Given the description of an element on the screen output the (x, y) to click on. 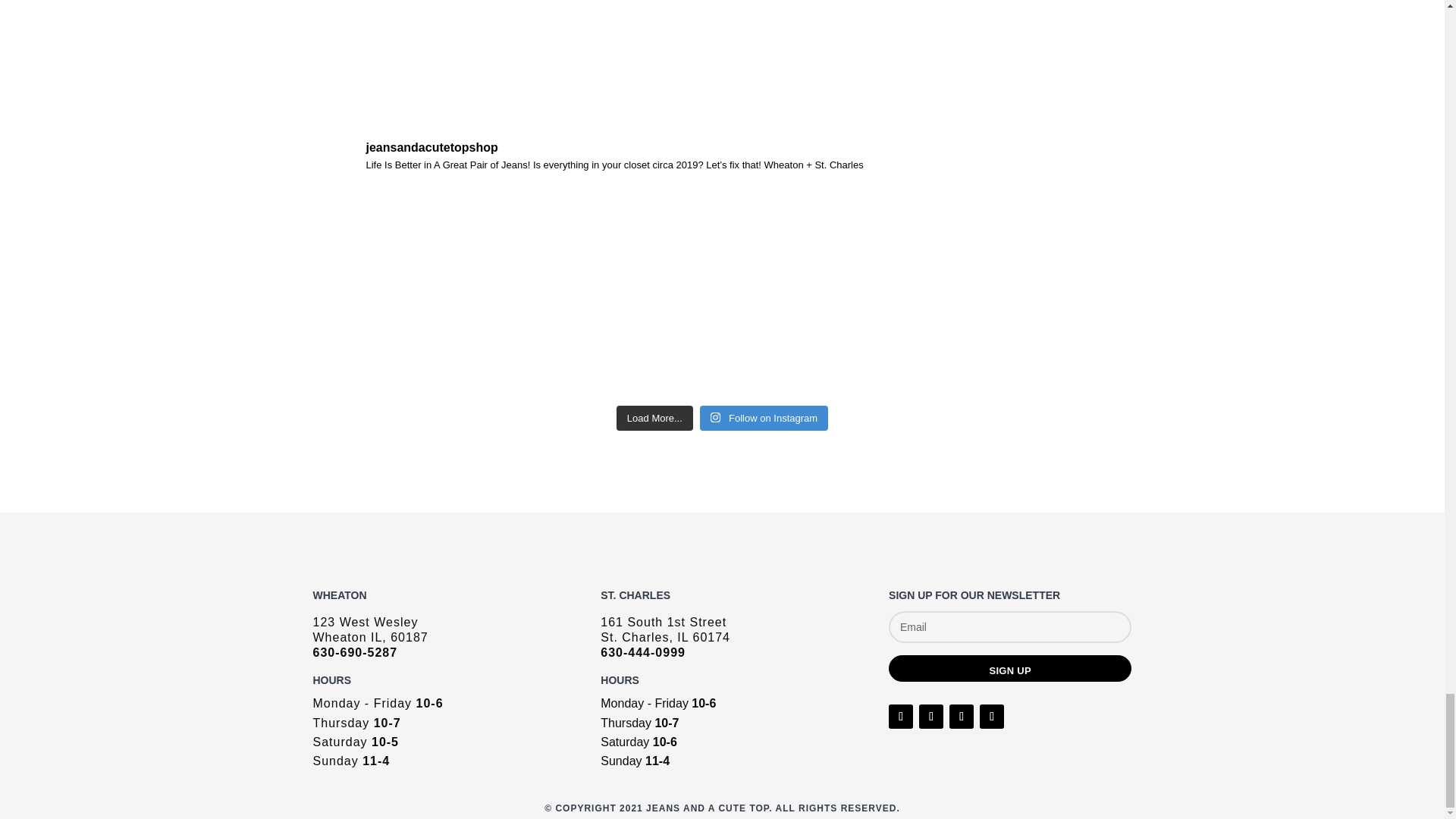
Load More... (654, 418)
SIGN UP (1009, 668)
Follow on Instagram (764, 418)
Follow on Facebook (900, 716)
Follow on X (930, 716)
